Given the description of an element on the screen output the (x, y) to click on. 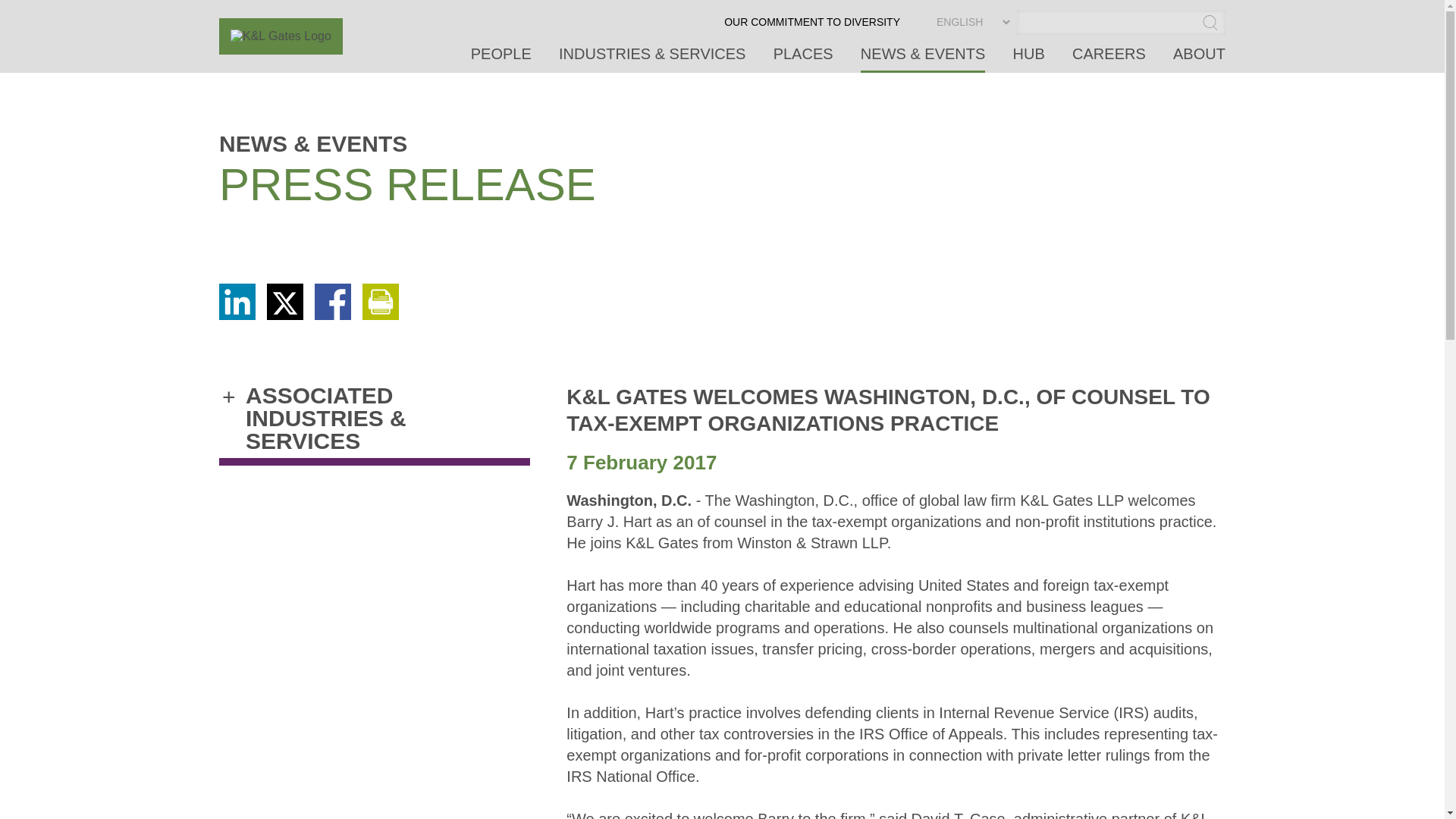
OUR COMMITMENT TO DIVERSITY (811, 27)
Print This Page (380, 315)
CAREERS (1108, 58)
Share via LinkedIn (237, 315)
Share via Twitter (284, 315)
PLACES (802, 58)
ABOUT (1199, 58)
Share via Facebook (332, 315)
HUB (1029, 58)
PEOPLE (500, 58)
